Given the description of an element on the screen output the (x, y) to click on. 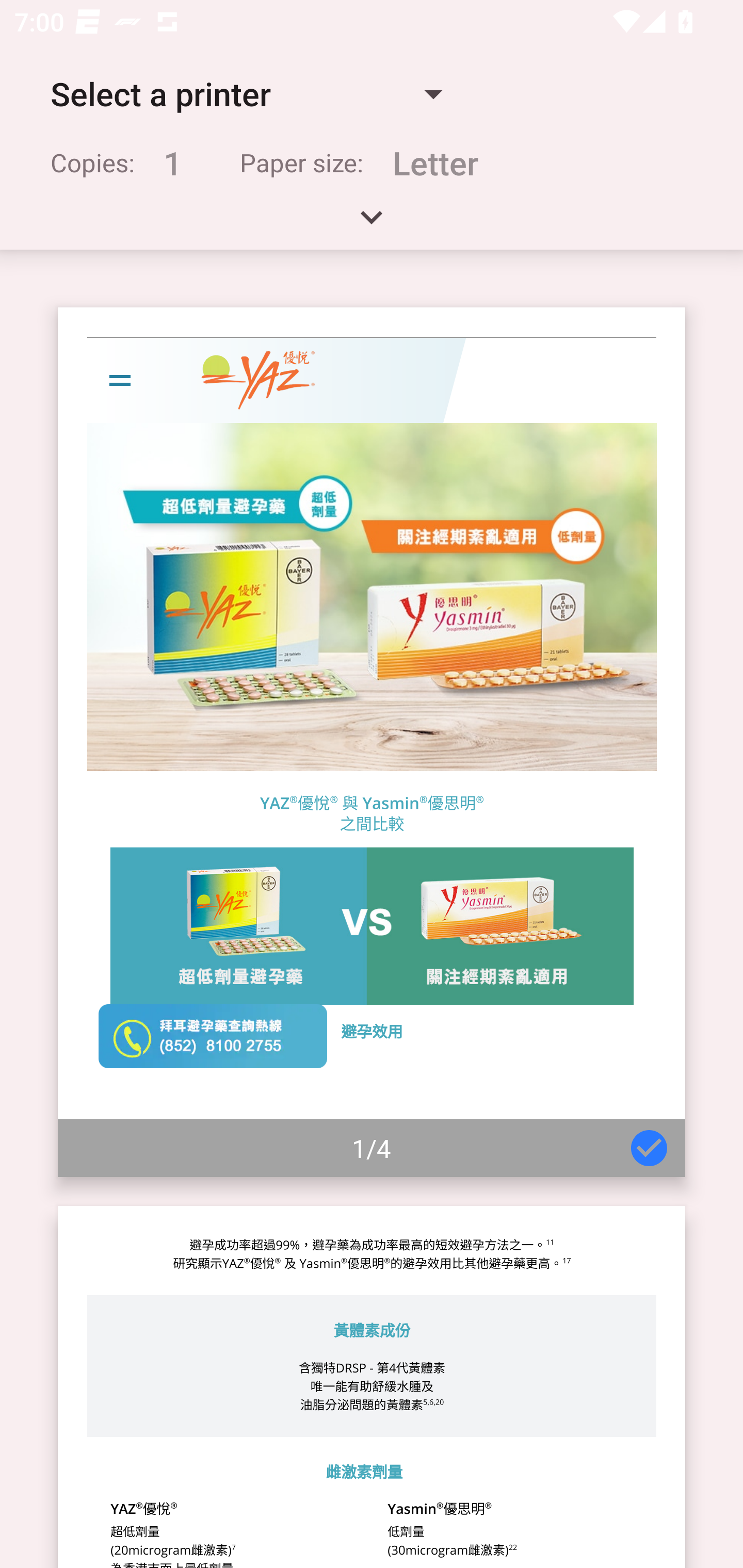
Select a printer (245, 93)
Expand handle (371, 224)
Page 1 of 4 1/4 (371, 742)
Page 2 of 4 (371, 1386)
